Given the description of an element on the screen output the (x, y) to click on. 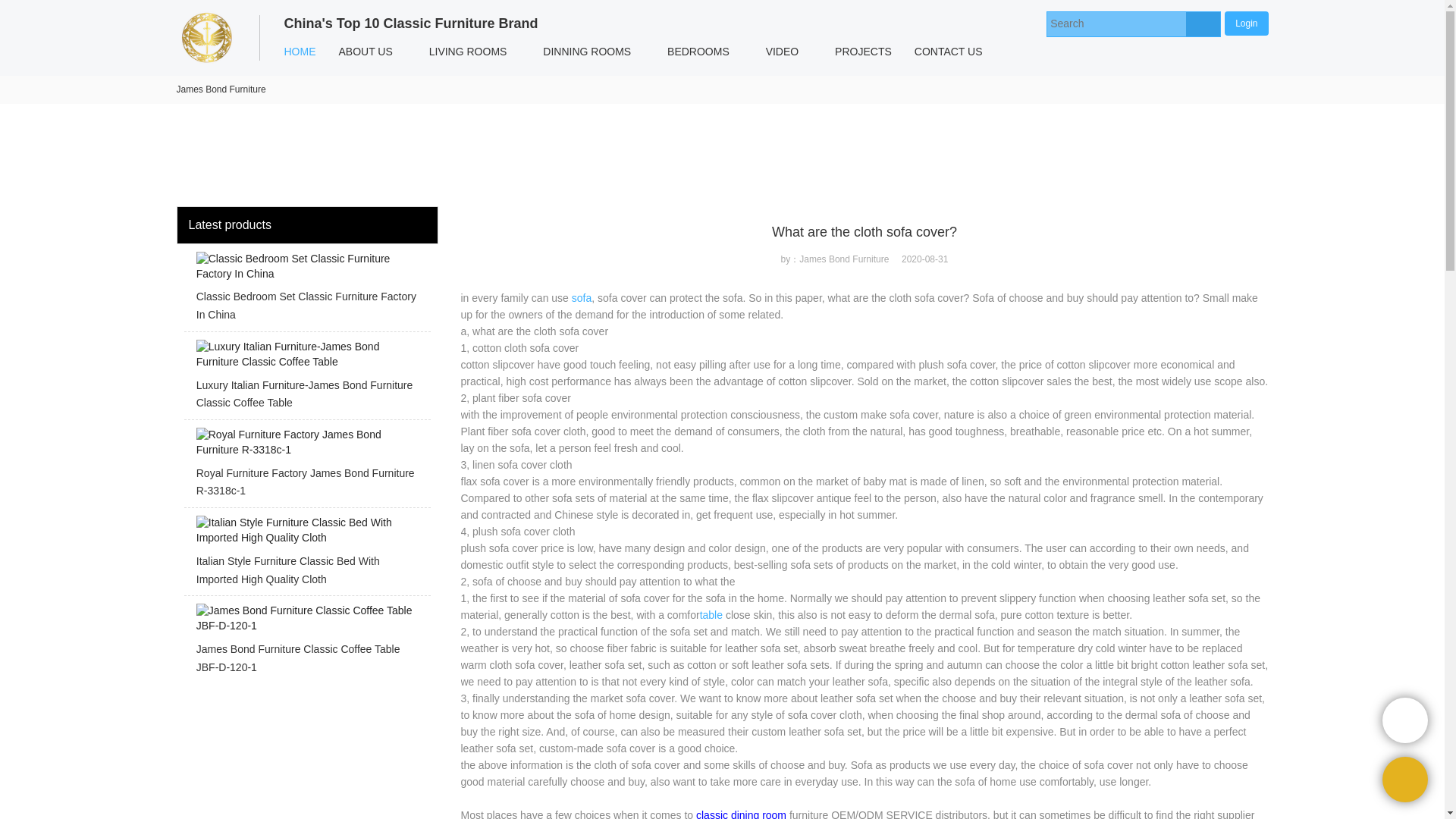
LIVING ROOMS (467, 51)
PROJECTS (863, 51)
ABOUT US (365, 51)
CONTACT US (948, 51)
BEDROOMS (698, 51)
HOME (300, 51)
DINNING ROOMS (586, 51)
Classic Bedroom Set Classic Furniture Factory In China (306, 291)
Login (1245, 23)
VIDEO (782, 51)
James Bond Furniture (220, 89)
